Given the description of an element on the screen output the (x, y) to click on. 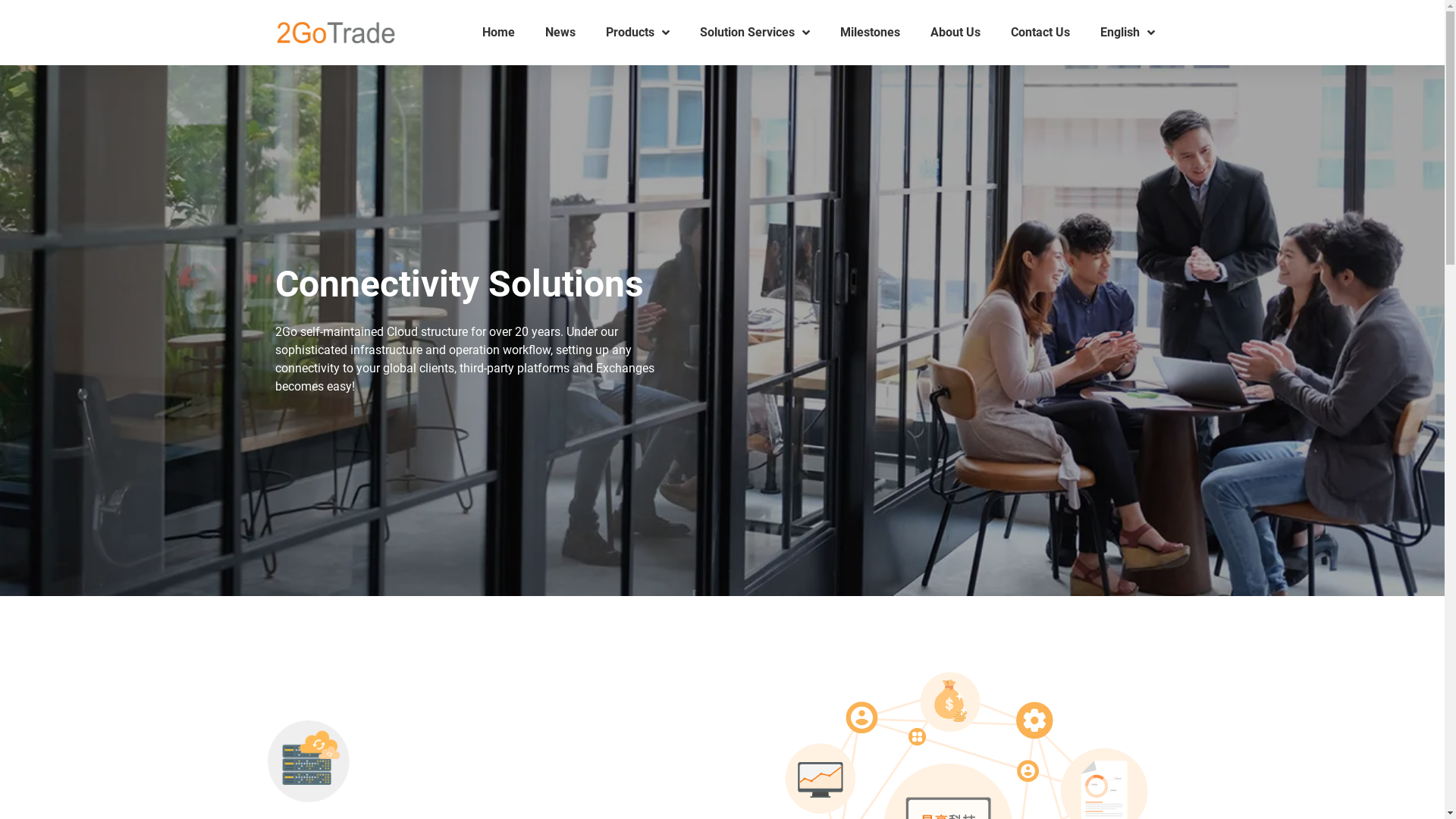
News Element type: text (559, 32)
Milestones Element type: text (870, 32)
Home Element type: text (498, 32)
Products Element type: text (636, 32)
English Element type: text (1126, 32)
About Us Element type: text (954, 32)
Contact Us Element type: text (1039, 32)
Solution Services Element type: text (754, 32)
